Given the description of an element on the screen output the (x, y) to click on. 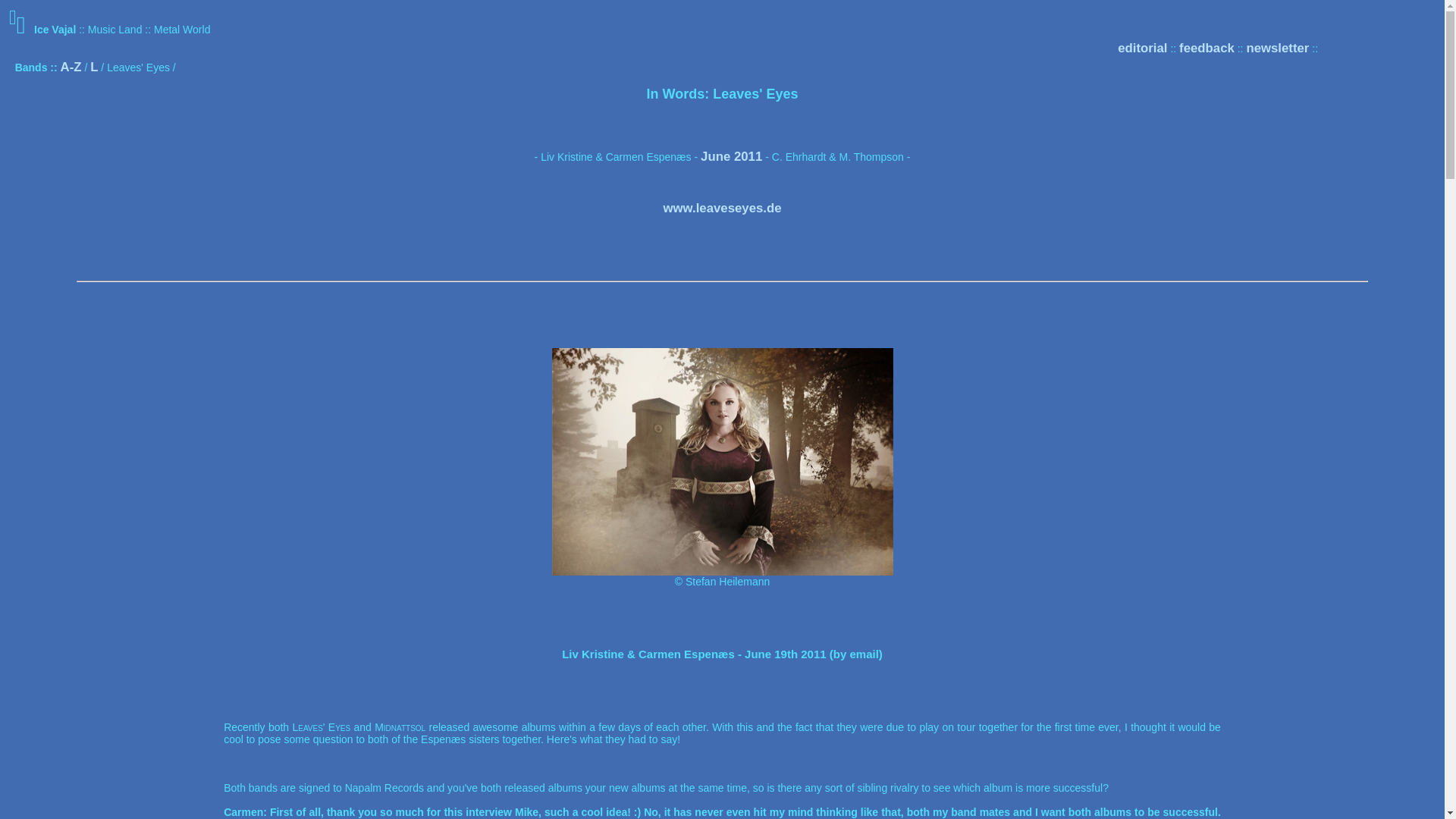
A-Z (71, 66)
feedback (1206, 47)
newsletter (1277, 47)
www.leaveseyes.de (721, 207)
June 2011 (730, 156)
editorial (1142, 47)
